Given the description of an element on the screen output the (x, y) to click on. 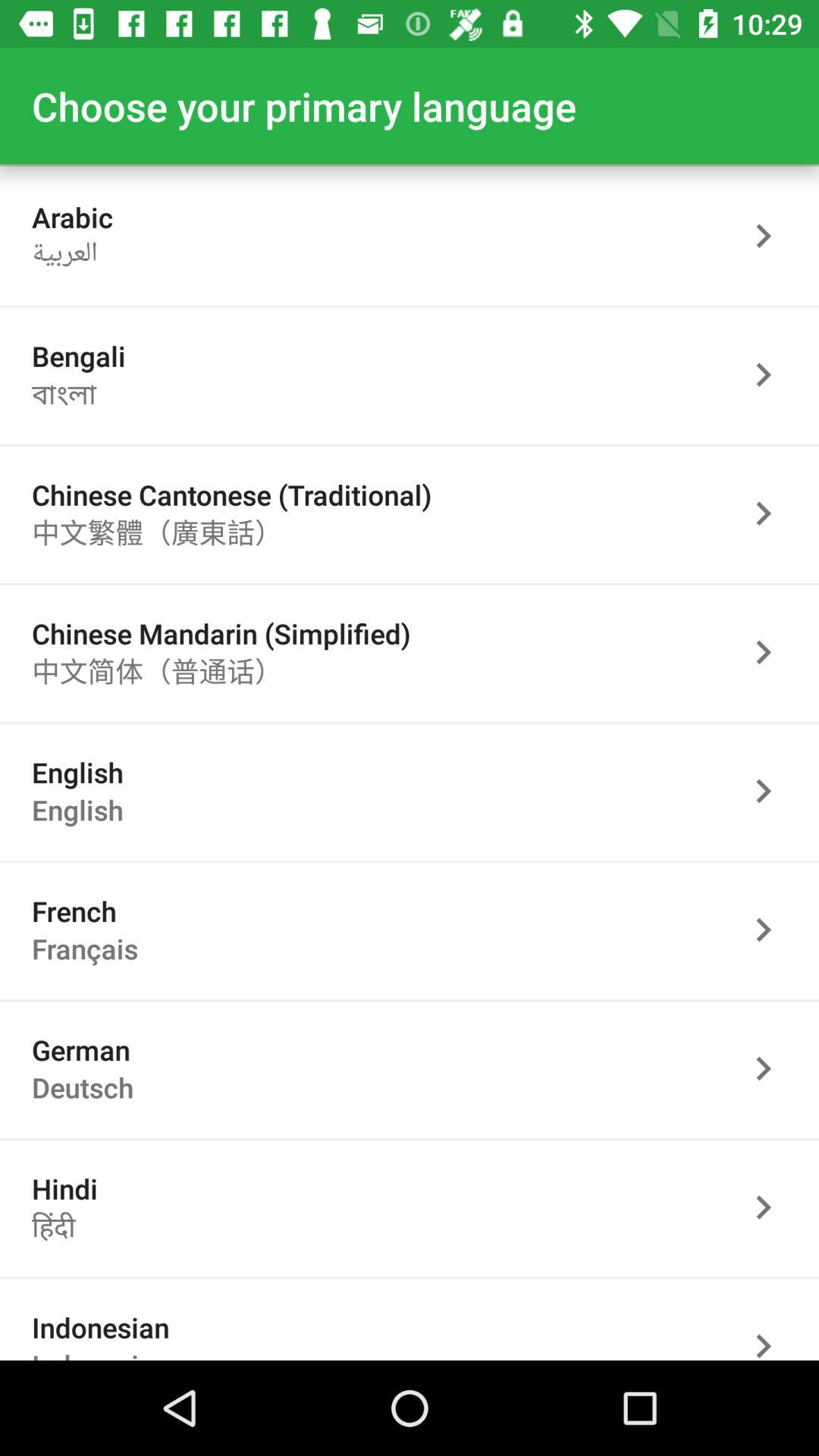
go to previous (771, 929)
